Given the description of an element on the screen output the (x, y) to click on. 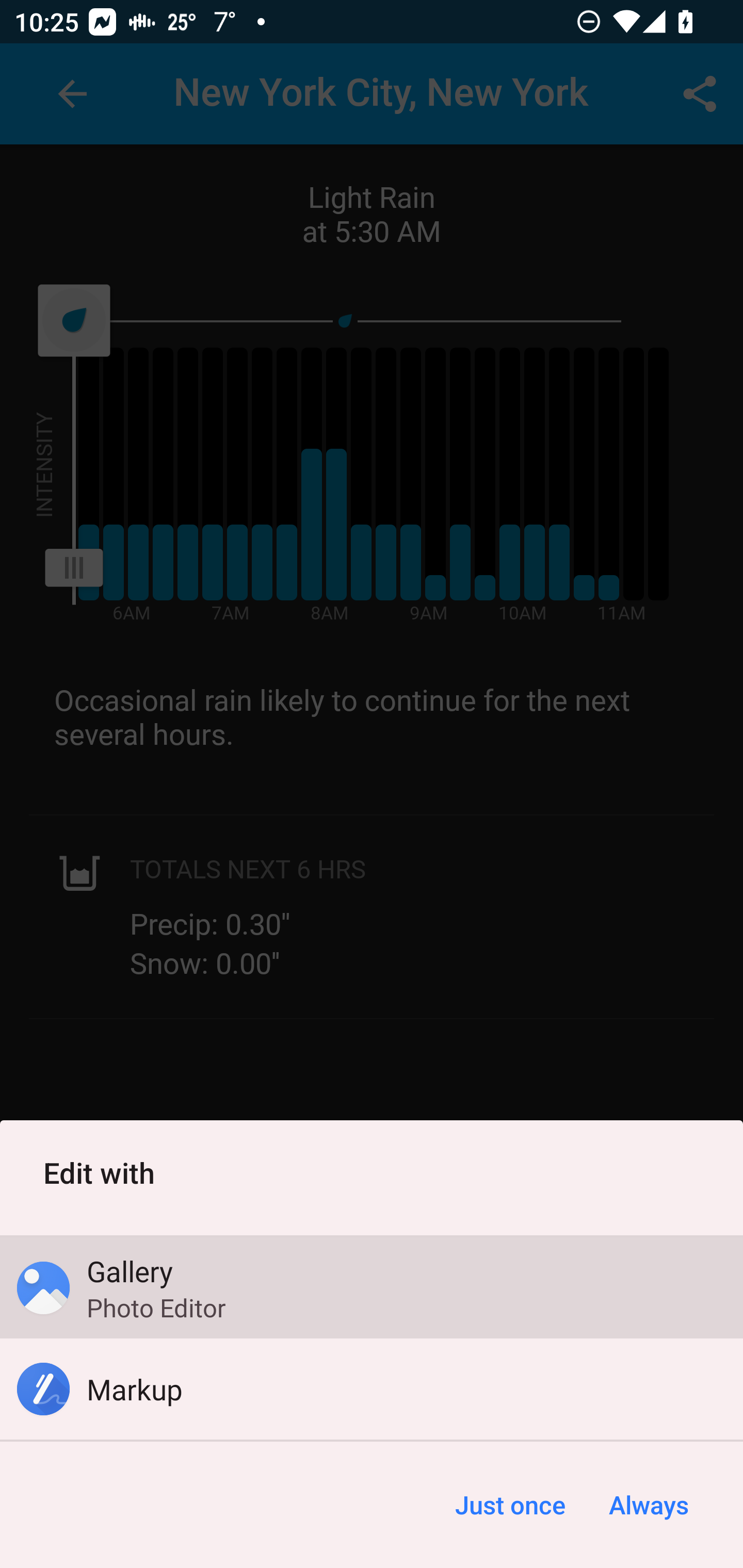
Gallery Photo Editor (371, 1288)
Markup (371, 1389)
Just once (509, 1504)
Always (648, 1504)
